Given the description of an element on the screen output the (x, y) to click on. 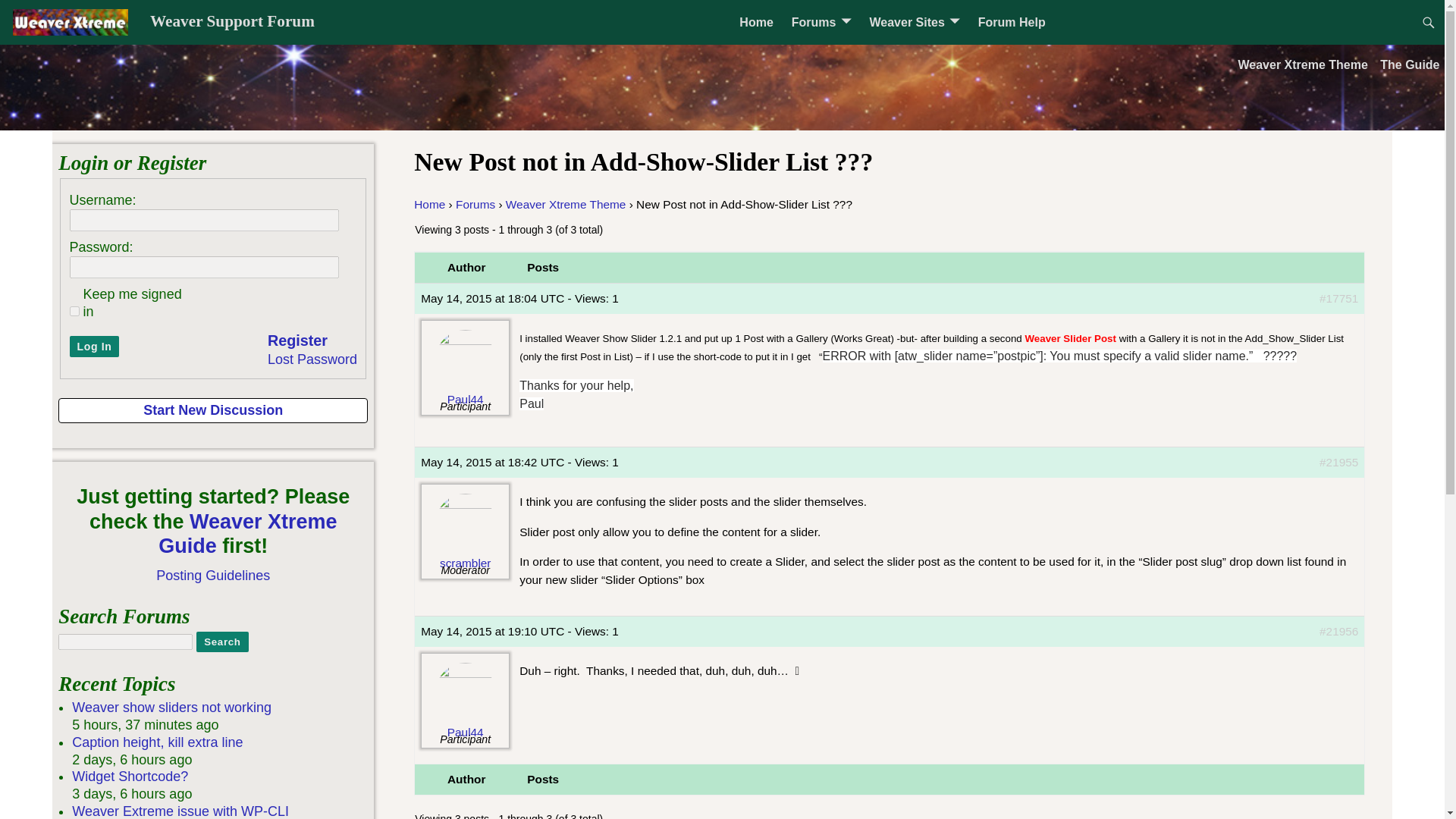
Log In (94, 346)
Posting Guidelines (212, 575)
Paul44 (465, 704)
Register (297, 340)
Weaver Xtreme Guide (247, 533)
View Paul44's profile (465, 371)
Weaver Sites (914, 22)
Weaver Xtreme Theme (1302, 64)
The Guide (1409, 64)
Search (221, 641)
